Given the description of an element on the screen output the (x, y) to click on. 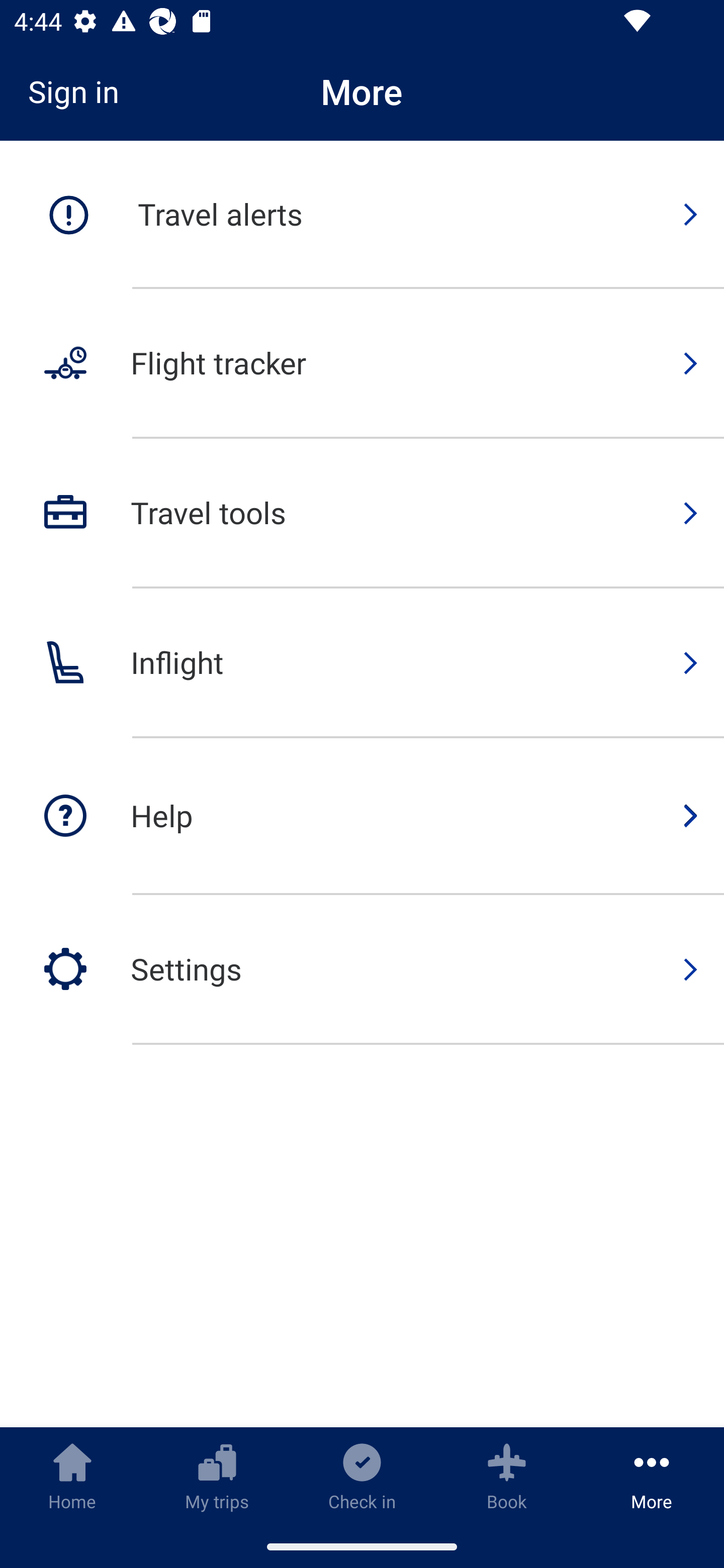
Sign in (80, 91)
Travel alerts (362, 214)
Flight tracker (362, 363)
Travel tools (362, 513)
Inflight (362, 663)
Help (362, 816)
Settings (362, 969)
Home (72, 1475)
My trips (216, 1475)
Check in (361, 1475)
Book (506, 1475)
